Given the description of an element on the screen output the (x, y) to click on. 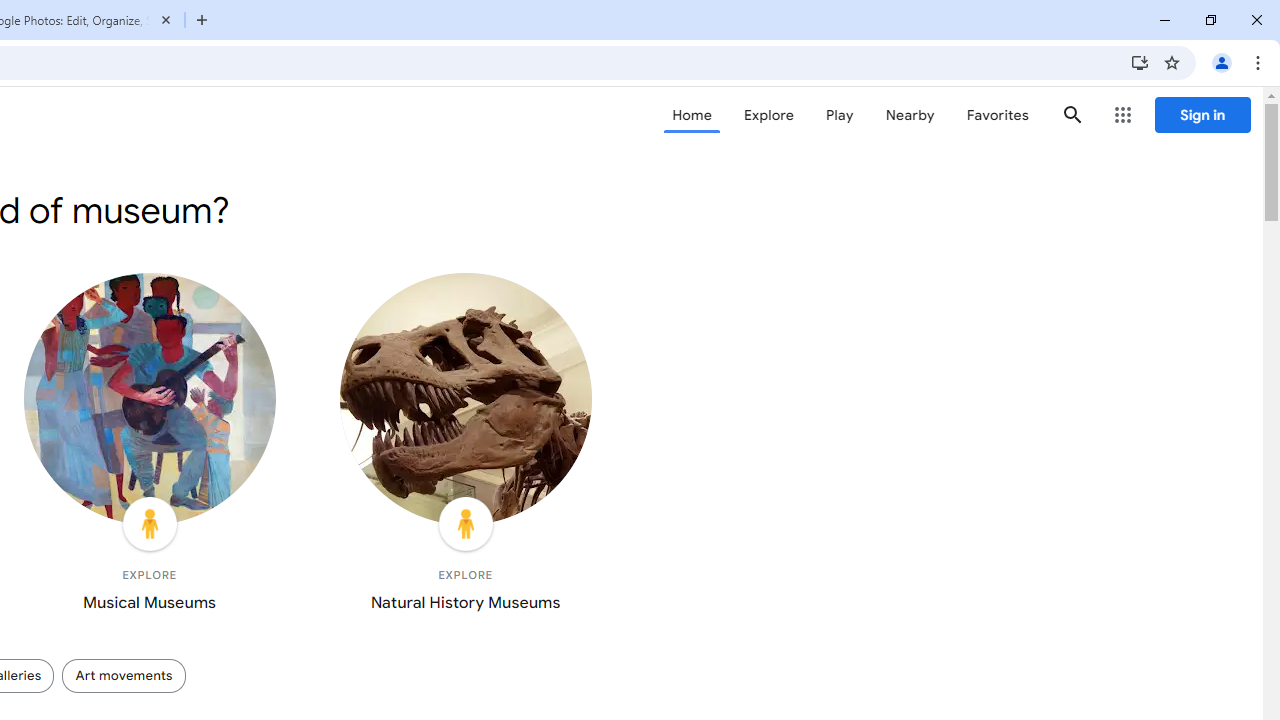
Install Google Arts & Culture (1139, 62)
